Given the description of an element on the screen output the (x, y) to click on. 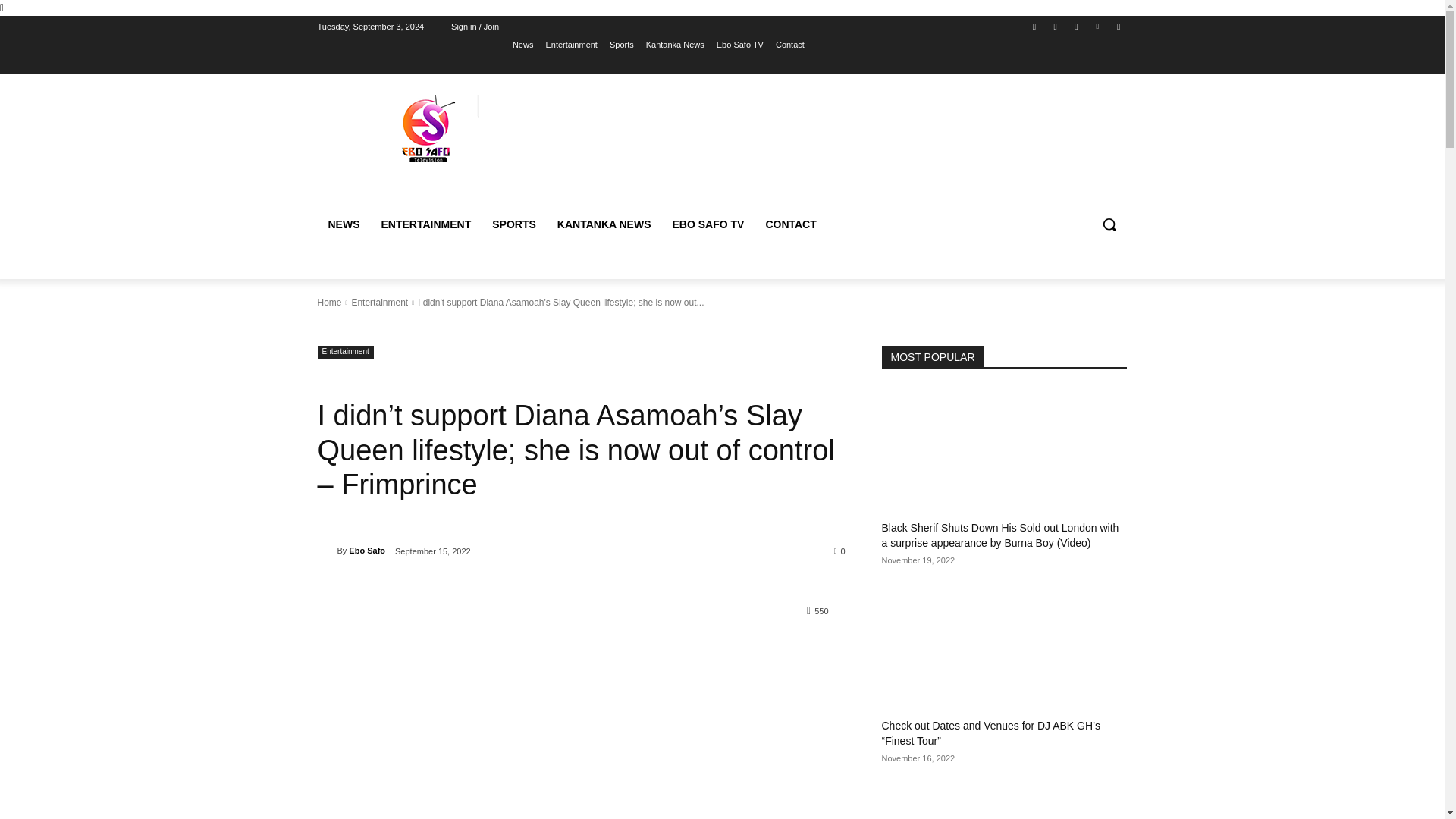
Instagram (1055, 27)
Sports (621, 44)
Contact (790, 44)
Ebo Safo TV (739, 44)
Vimeo (1097, 27)
Entertainment (570, 44)
Youtube (1117, 27)
Facebook (1034, 27)
Twitter (1075, 27)
CONTACT (790, 224)
